Given the description of an element on the screen output the (x, y) to click on. 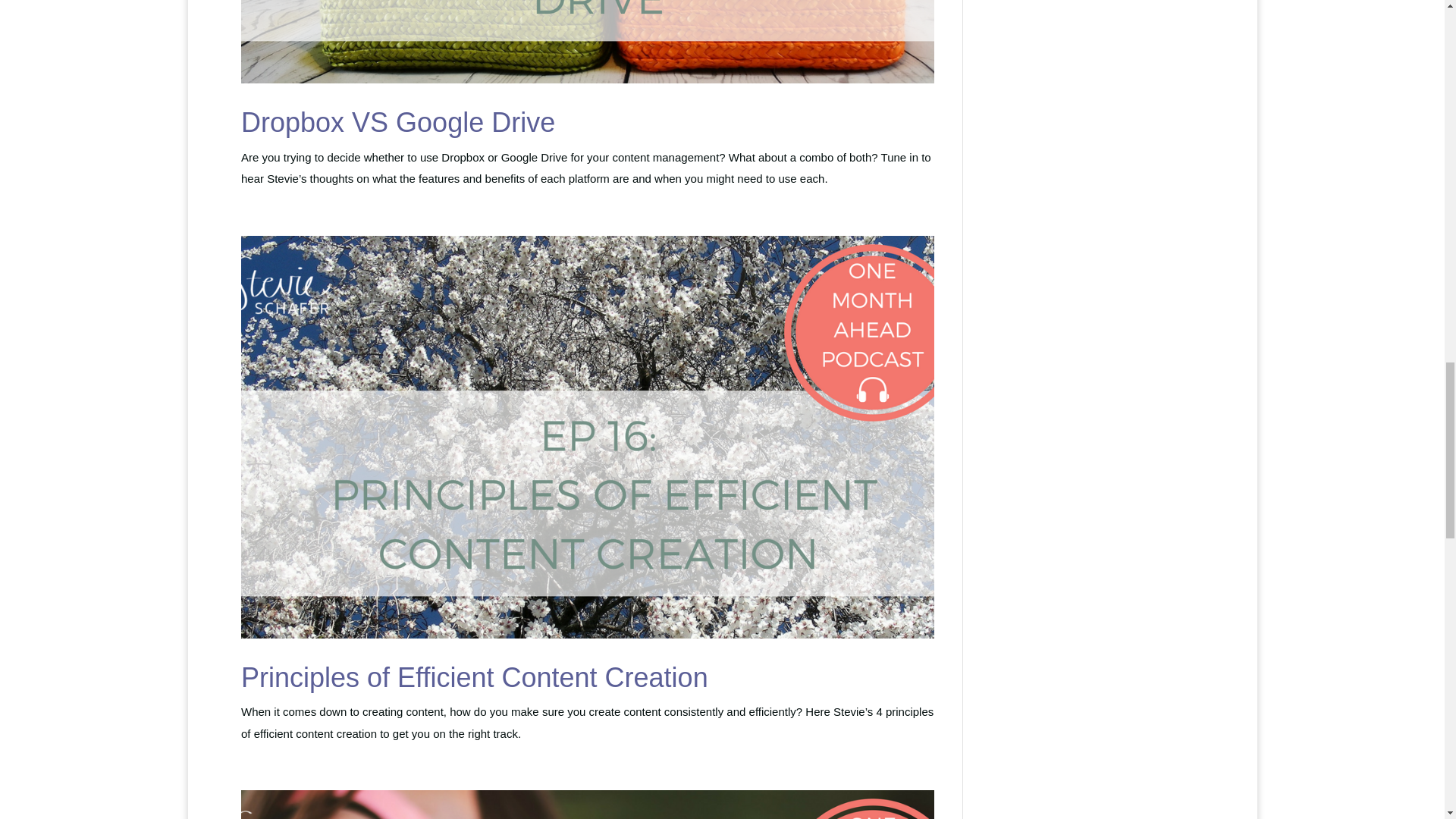
Principles of Efficient Content Creation (474, 676)
Dropbox VS Google Drive (397, 122)
